Given the description of an element on the screen output the (x, y) to click on. 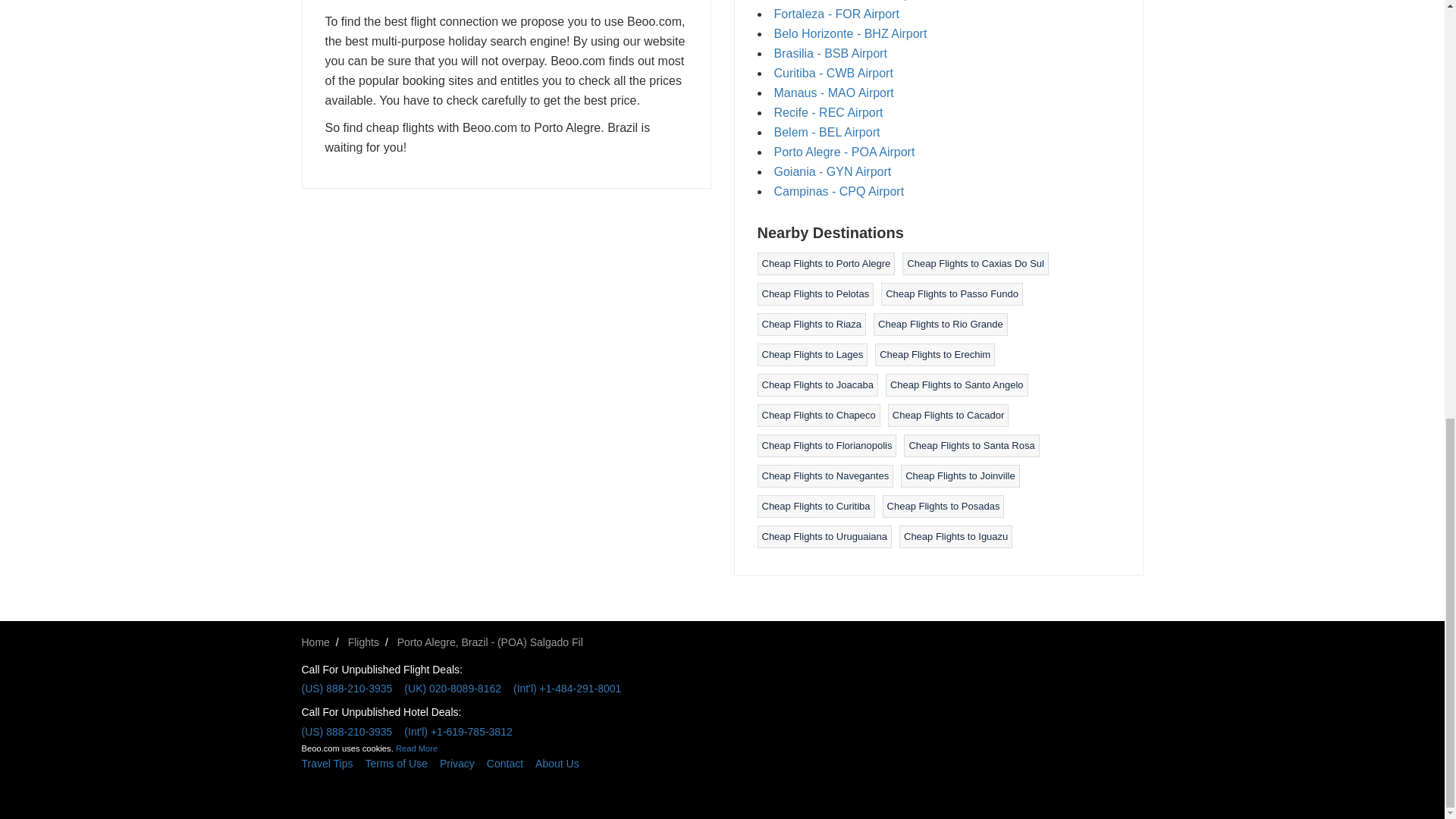
Cheap Flights to Joacaba (816, 384)
Cheap Flights to Lages (812, 354)
Manaus - MAO Airport (833, 92)
Cheap Flights to Pelotas (815, 293)
Cheap Flights to Chapeco (818, 414)
Cheap Flights to Caxias Do Sul (975, 263)
Cheap Flights to Santa Rosa (970, 445)
Campinas - CPQ Airport (838, 191)
Cheap Flights to Riaza (811, 324)
Cheap Flights to Posadas (943, 505)
Cheap Flights to Porto Alegre (825, 263)
Cheap Flights to Rio Grande (940, 324)
Porto Alegre - POA Airport (843, 151)
Curitiba - CWB Airport (832, 72)
Goiania - GYN Airport (832, 171)
